Given the description of an element on the screen output the (x, y) to click on. 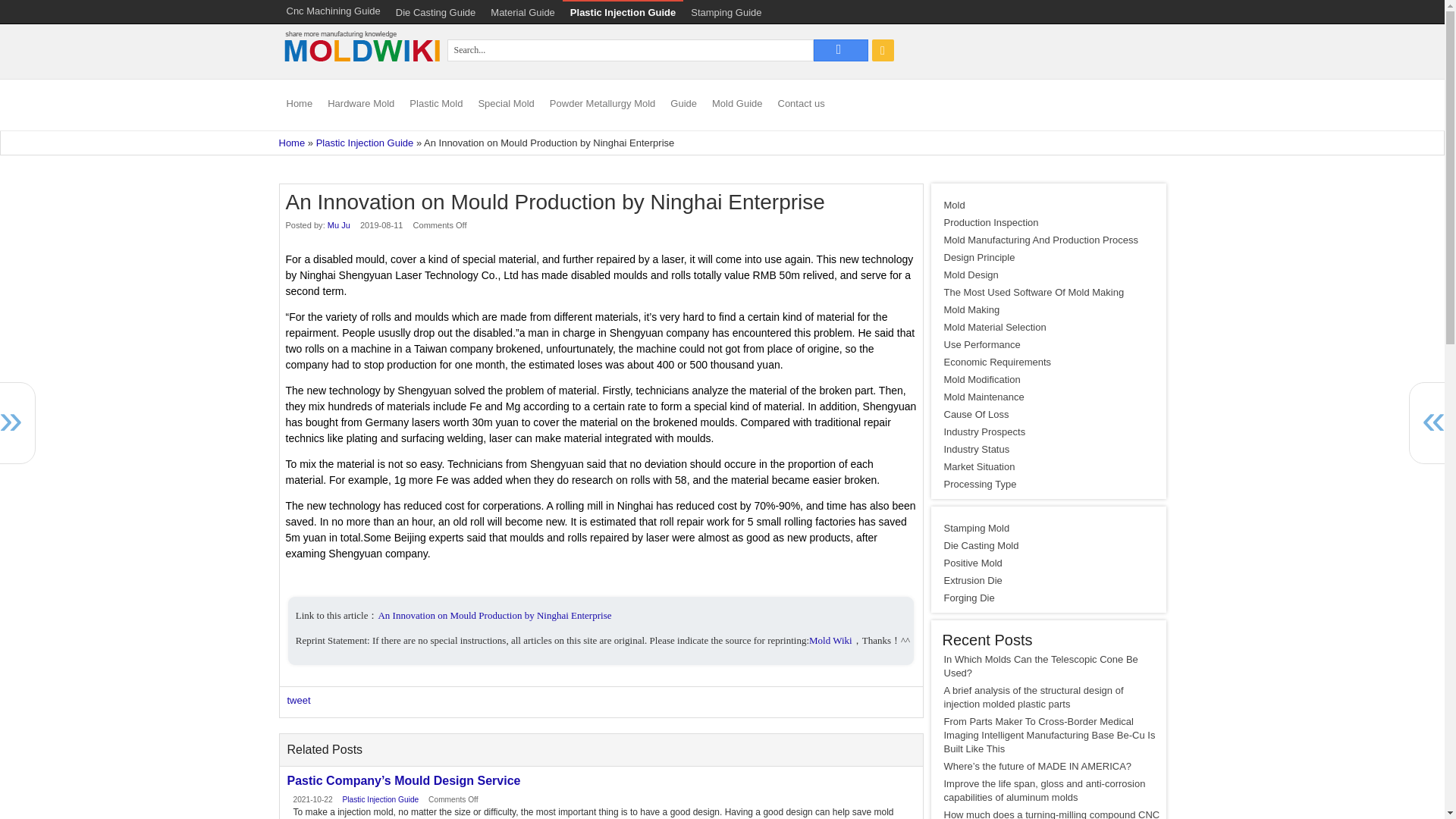
Plastic Injection Guide (622, 11)
Search... (629, 50)
Powder Metallurgy Mold (601, 104)
Search... (839, 50)
Home (292, 142)
Mold Wiki (361, 69)
Plastic Mold (435, 104)
Plastic Injection Guide (364, 142)
Special Mold (505, 104)
Stamping Guide (725, 11)
